Given the description of an element on the screen output the (x, y) to click on. 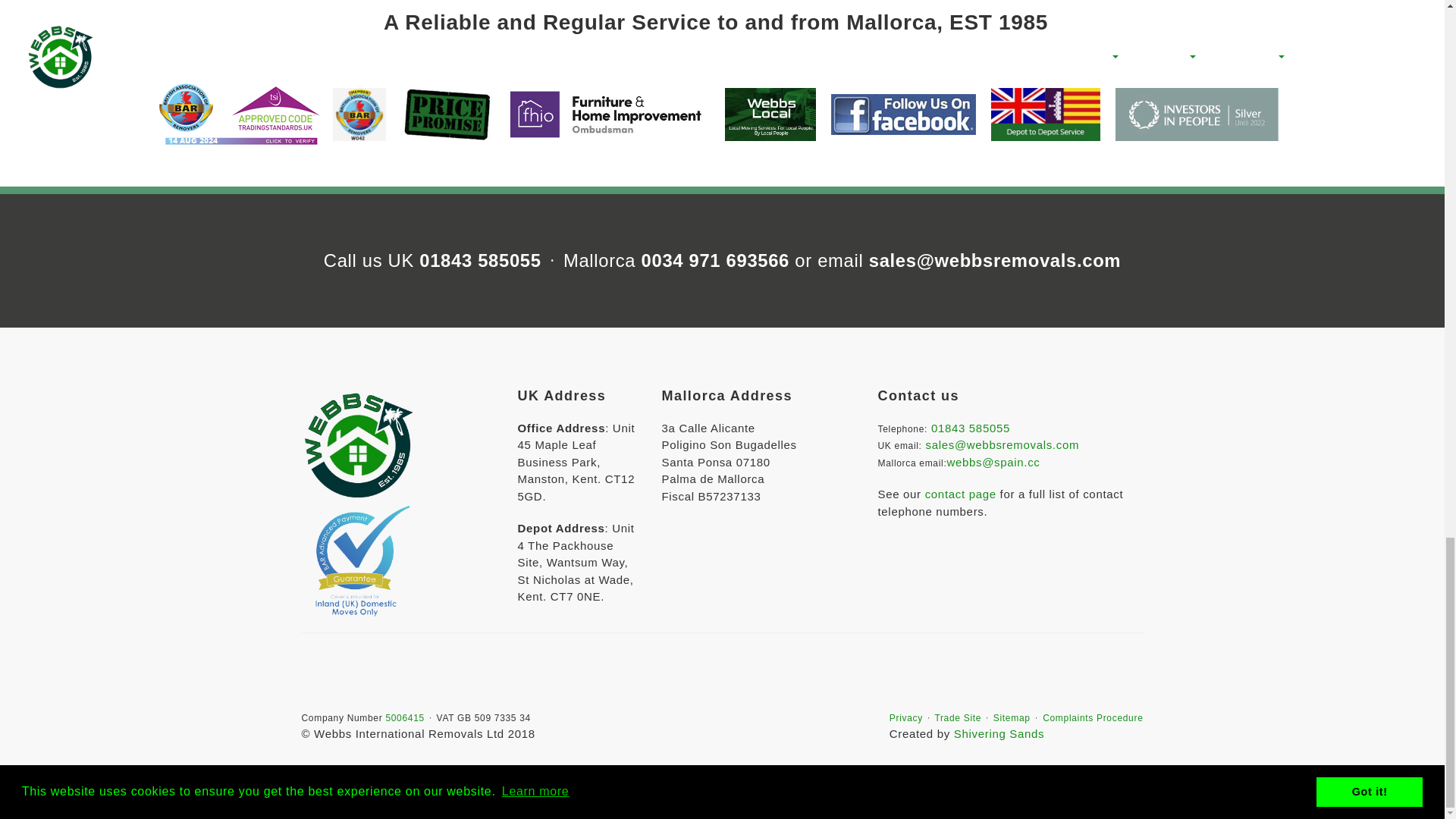
Visit BAR (1197, 114)
Furniture Ombudsman (608, 114)
Visit BAR (358, 114)
01843 585055 (970, 427)
Visit our Trade Site (957, 717)
Webbs Local (770, 114)
01843 585055 (479, 260)
Price Promised (446, 114)
0034 971 693566 (715, 260)
Visit BAR (1045, 114)
